Given the description of an element on the screen output the (x, y) to click on. 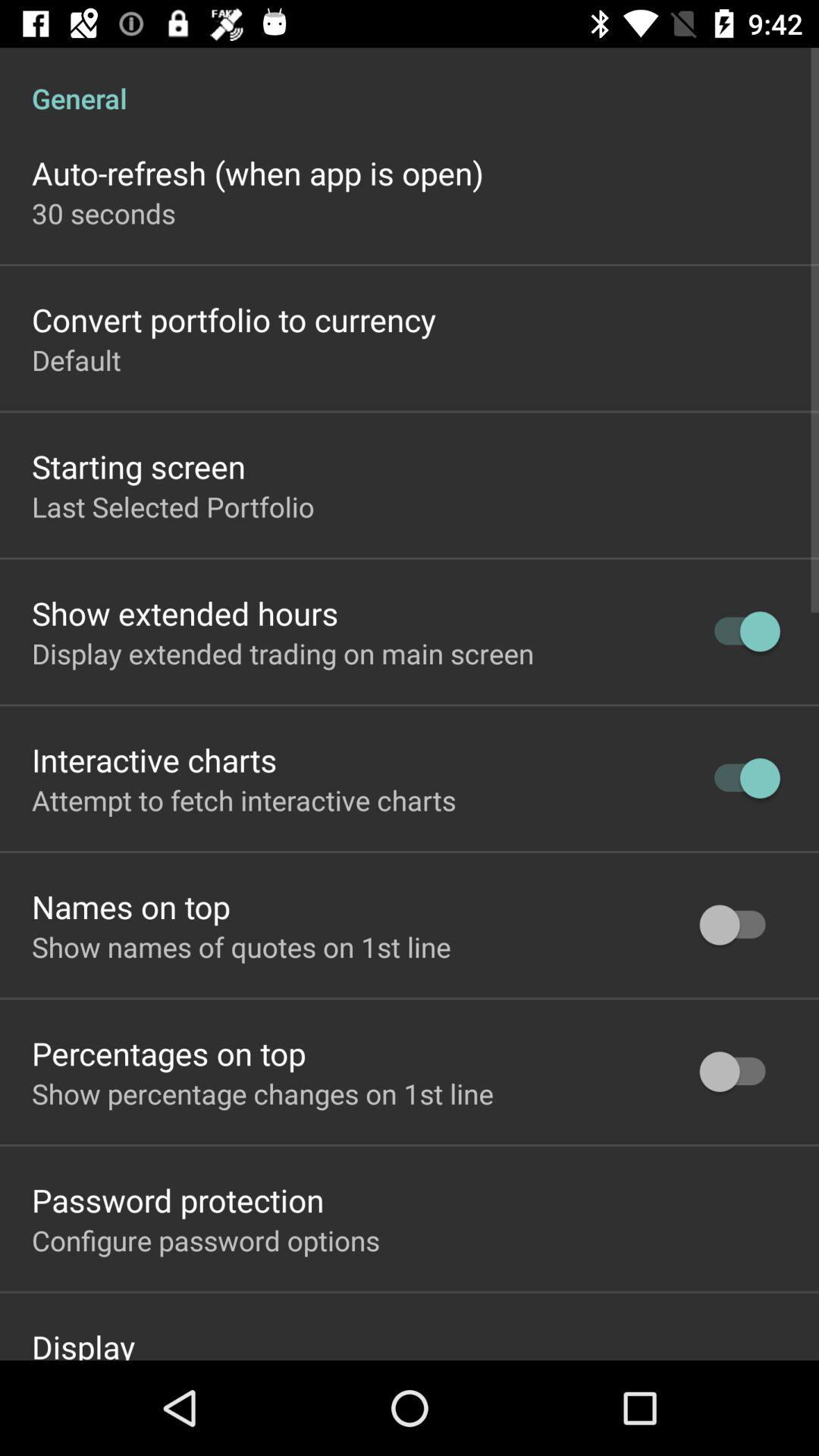
turn off the app below convert portfolio to (76, 359)
